Given the description of an element on the screen output the (x, y) to click on. 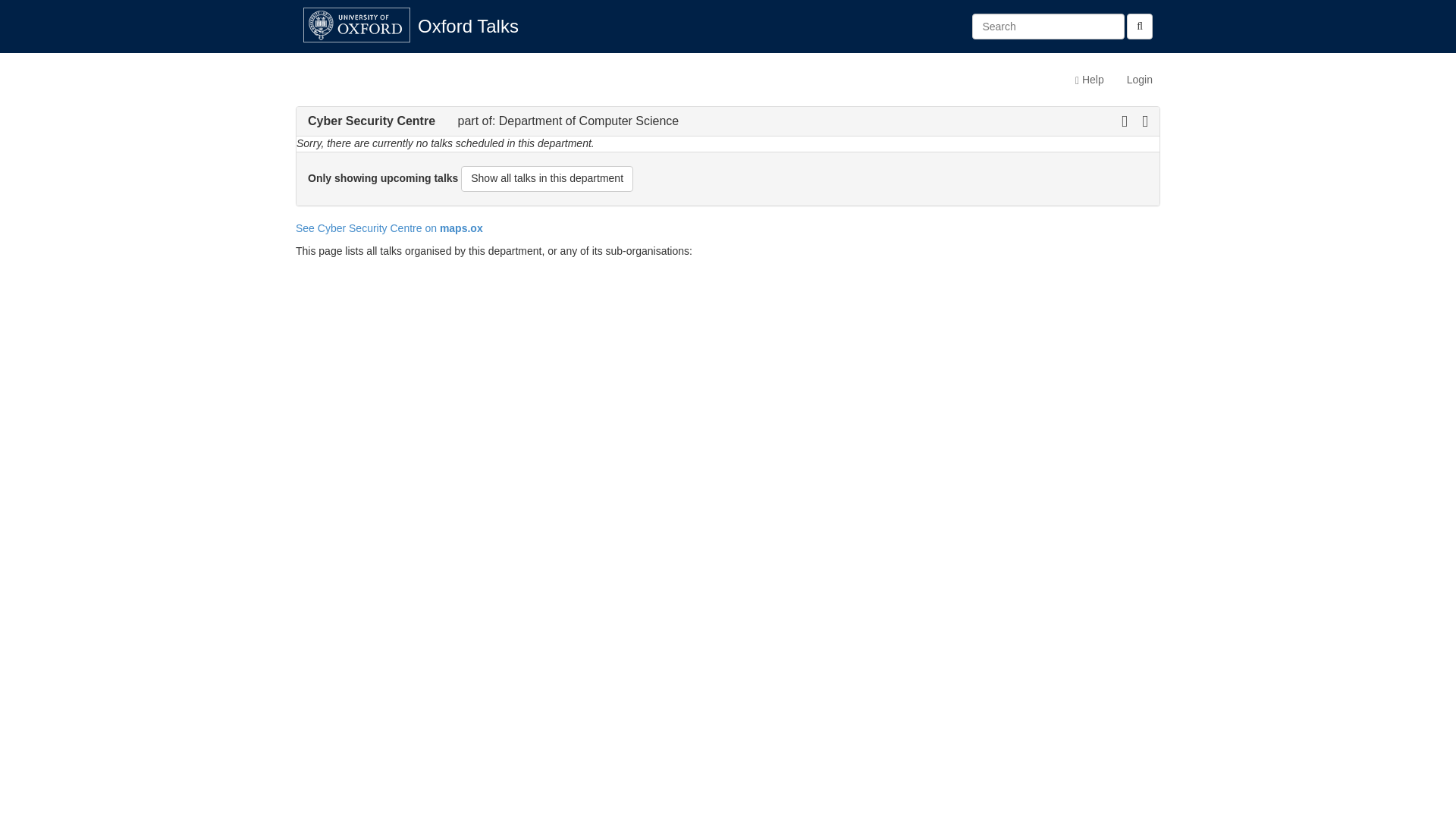
Oxford Talks (467, 26)
Login (1139, 79)
See Cyber Security Centre on maps.ox (389, 227)
Help (1089, 79)
Show all talks in this department (547, 178)
Department of Computer Science (588, 120)
